Given the description of an element on the screen output the (x, y) to click on. 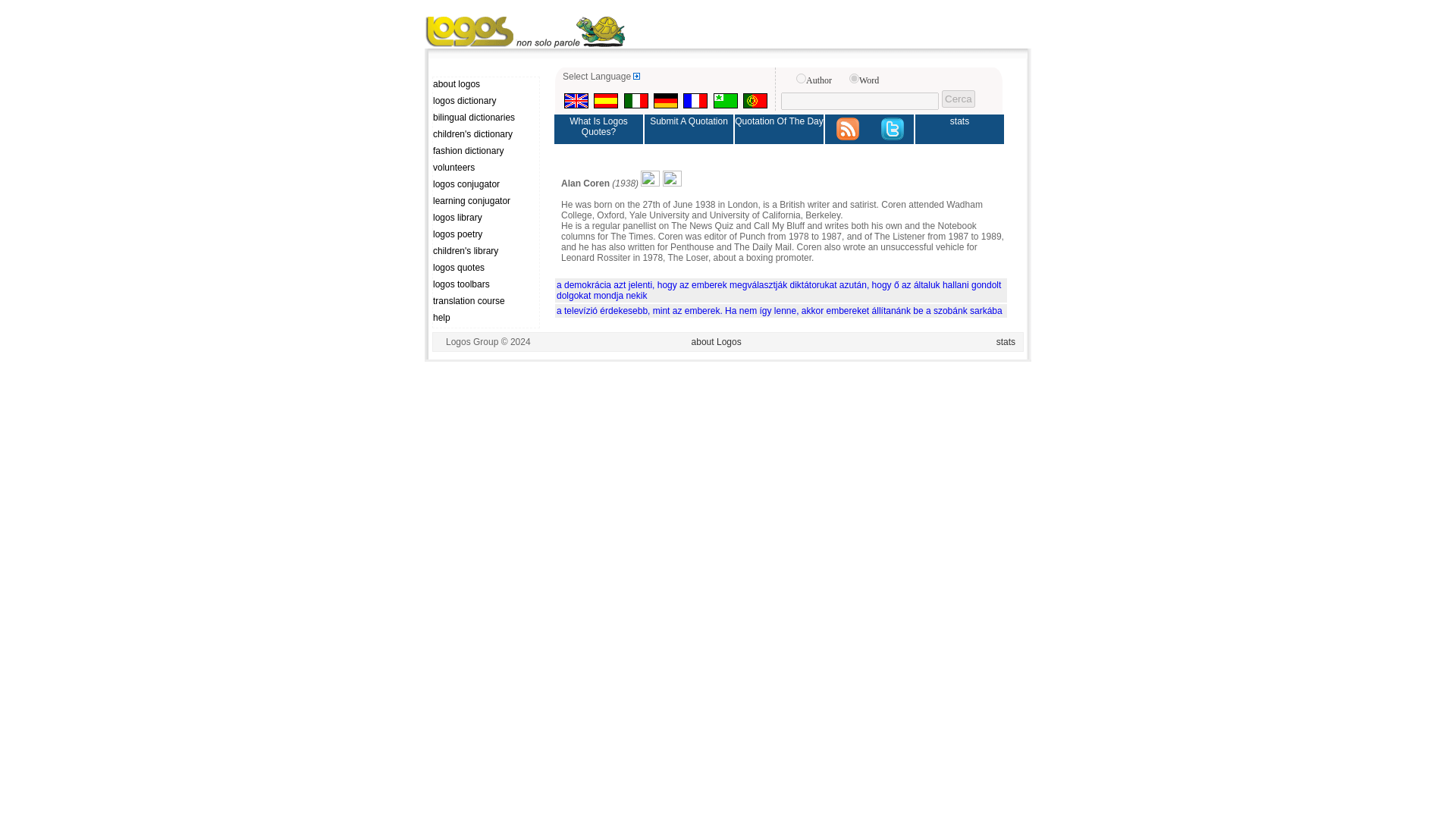
children's dictionary (485, 134)
learning conjugator (485, 201)
translation course (485, 301)
a (801, 78)
stats (959, 129)
logos conjugator (485, 184)
children's library (485, 251)
Cerca (958, 98)
Quotation Of The Day (779, 129)
w (853, 78)
volunteers (485, 168)
help (485, 318)
logos quotes (485, 268)
fashion dictionary (485, 151)
about logos (485, 84)
